Given the description of an element on the screen output the (x, y) to click on. 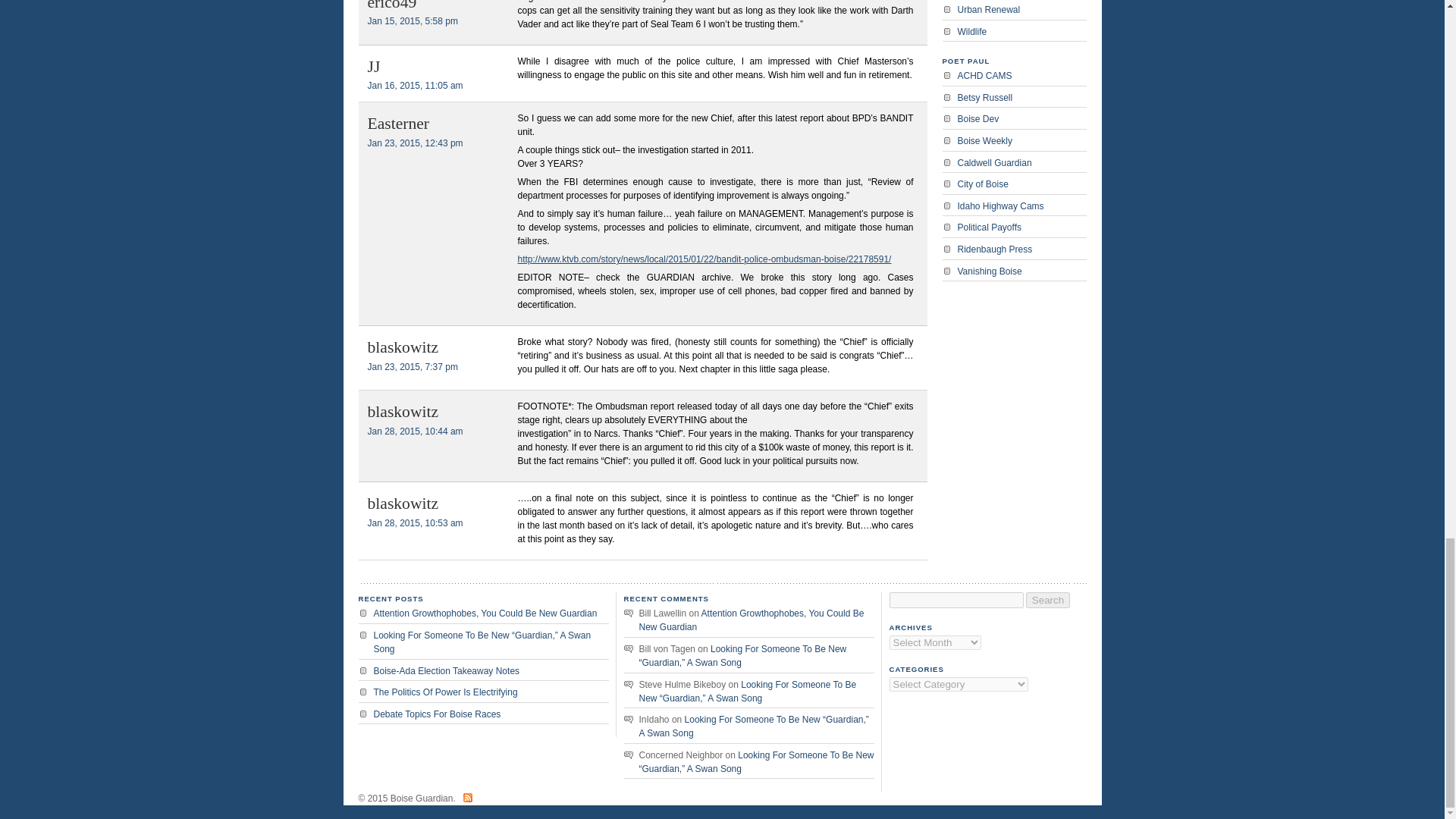
Jan 15, 2015, 5:58 pm (411, 20)
Search (1048, 600)
Jan 16, 2015, 11:05 am (414, 85)
Jan 28, 2015, 10:44 am (414, 430)
Jan 23, 2015, 7:37 pm (411, 366)
Jan 23, 2015, 12:43 pm (414, 143)
Jan 28, 2015, 10:53 am (414, 522)
